Given the description of an element on the screen output the (x, y) to click on. 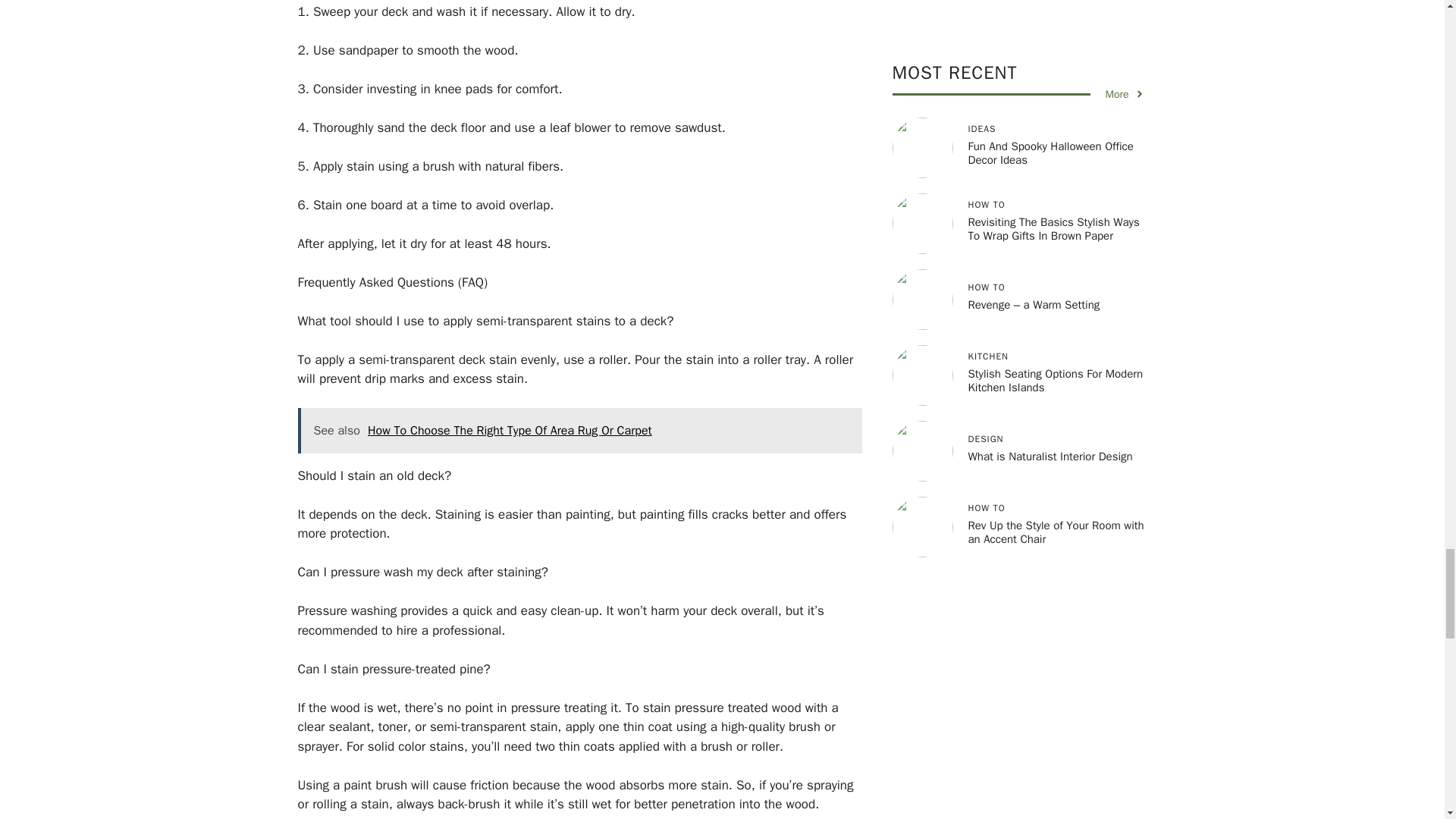
See also  How To Choose The Right Type Of Area Rug Or Carpet (579, 430)
